Given the description of an element on the screen output the (x, y) to click on. 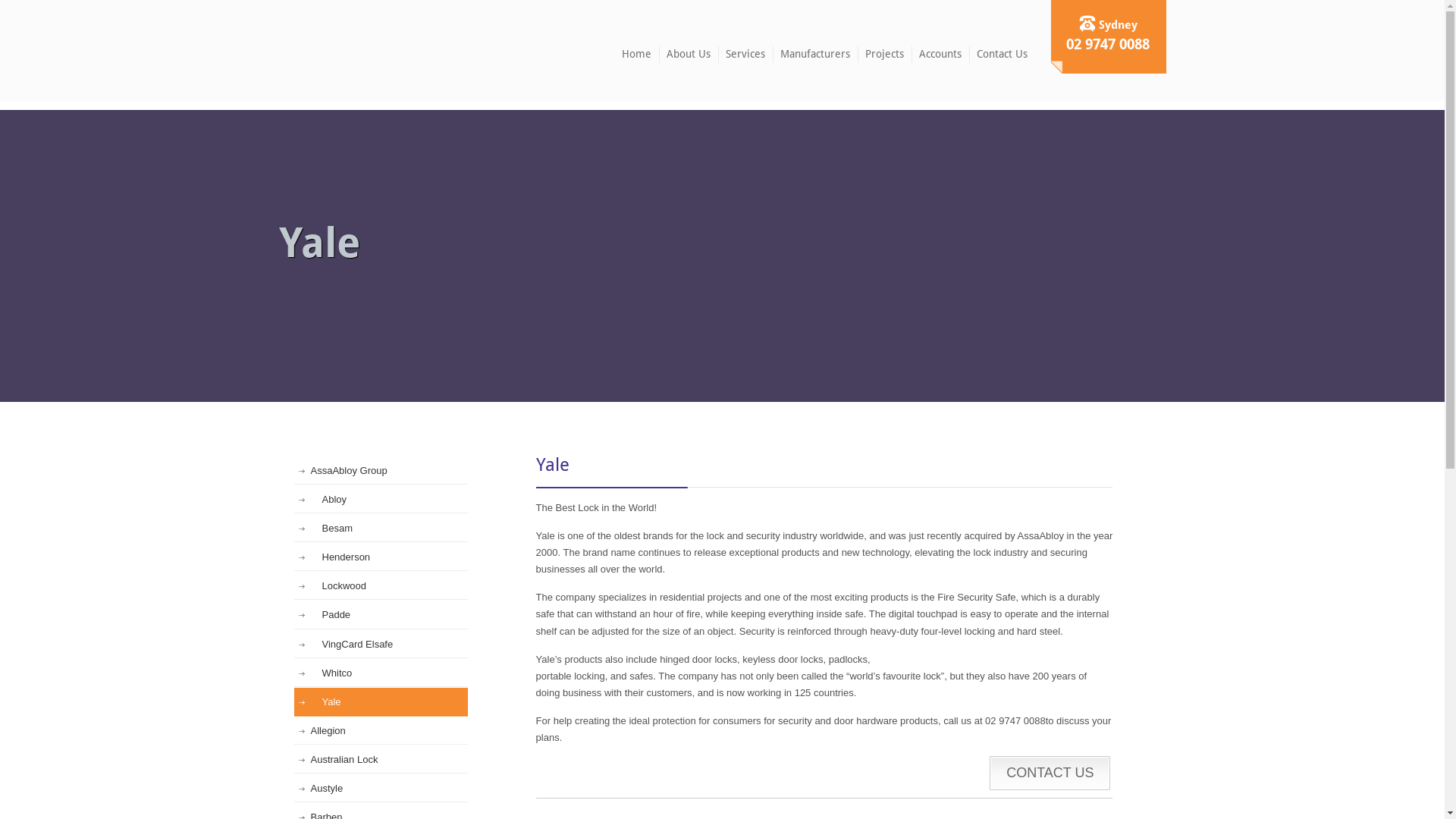
Allegion Element type: text (380, 730)
Abloy Element type: text (380, 499)
Accounts Element type: text (940, 54)
Services Element type: text (745, 54)
Whitco Element type: text (380, 672)
Yale Element type: text (380, 701)
Besam Element type: text (380, 528)
Henderson Element type: text (380, 556)
Jomon Architectural Hardware Element type: text (345, 49)
VingCard Elsafe Element type: text (380, 644)
Projects Element type: text (884, 54)
About Us Element type: text (688, 54)
Padde Element type: text (380, 614)
Austyle Element type: text (380, 788)
Lockwood Element type: text (380, 585)
Manufacturers Element type: text (814, 54)
Contact Us Element type: text (1002, 54)
Australian Lock Element type: text (380, 759)
CONTACT US Element type: text (1049, 772)
AssaAbloy Group Element type: text (380, 470)
Home Element type: text (636, 54)
